Given the description of an element on the screen output the (x, y) to click on. 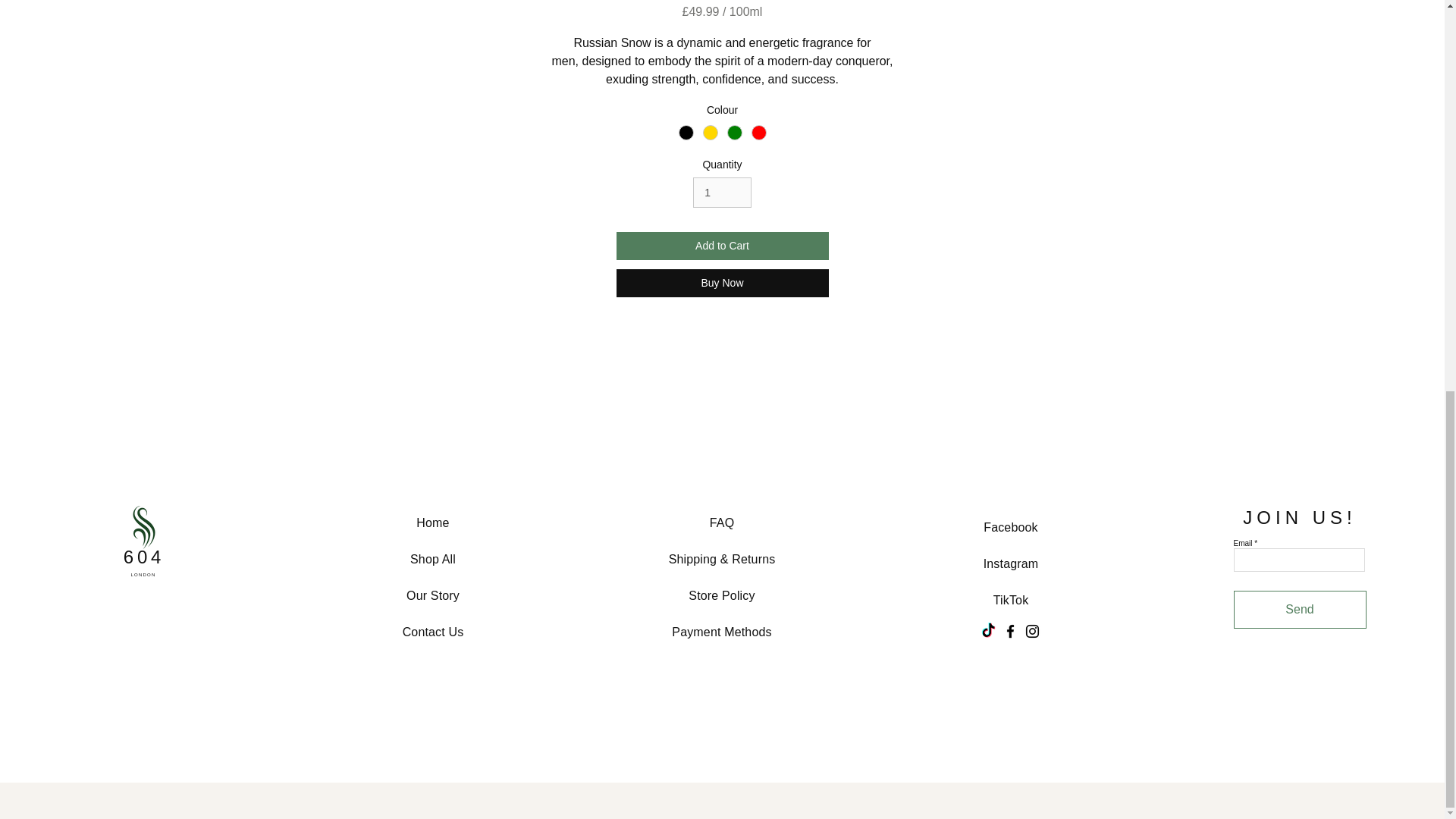
Home (432, 522)
1 (722, 192)
Contact Us (433, 631)
Buy Now (721, 283)
Send (1299, 609)
Shop All (432, 558)
TikTok (1010, 599)
Original on Transparent.png (143, 529)
Add to Cart (721, 245)
Instagram (1011, 563)
Our Story (433, 594)
FAQ (722, 522)
Payment Methods (721, 631)
Facebook (1011, 526)
Store Policy (721, 594)
